Given the description of an element on the screen output the (x, y) to click on. 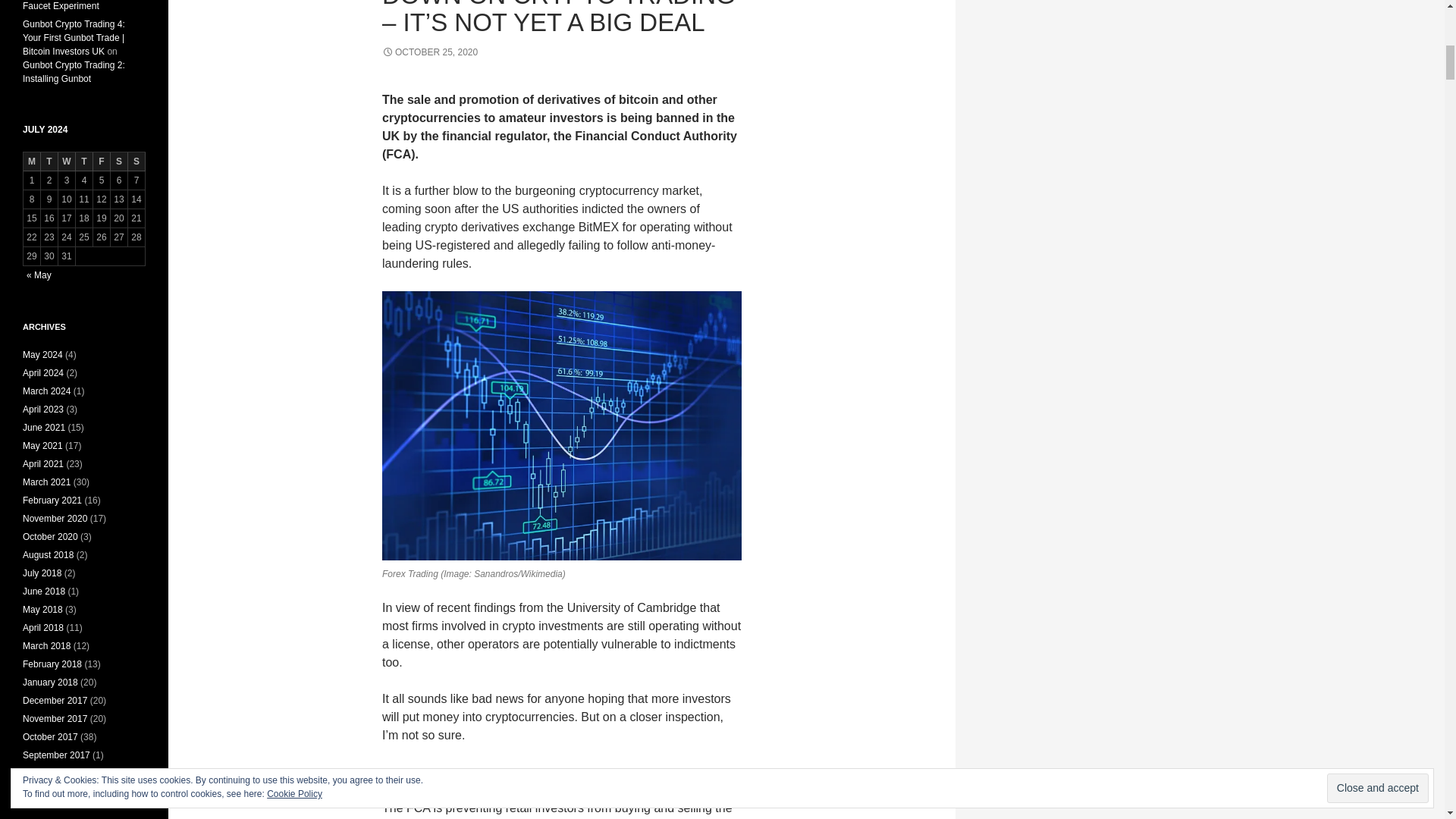
Thursday (84, 161)
Sunday (136, 161)
Saturday (119, 161)
OCTOBER 25, 2020 (429, 51)
Friday (101, 161)
Monday (31, 161)
Wednesday (66, 161)
Tuesday (49, 161)
